Given the description of an element on the screen output the (x, y) to click on. 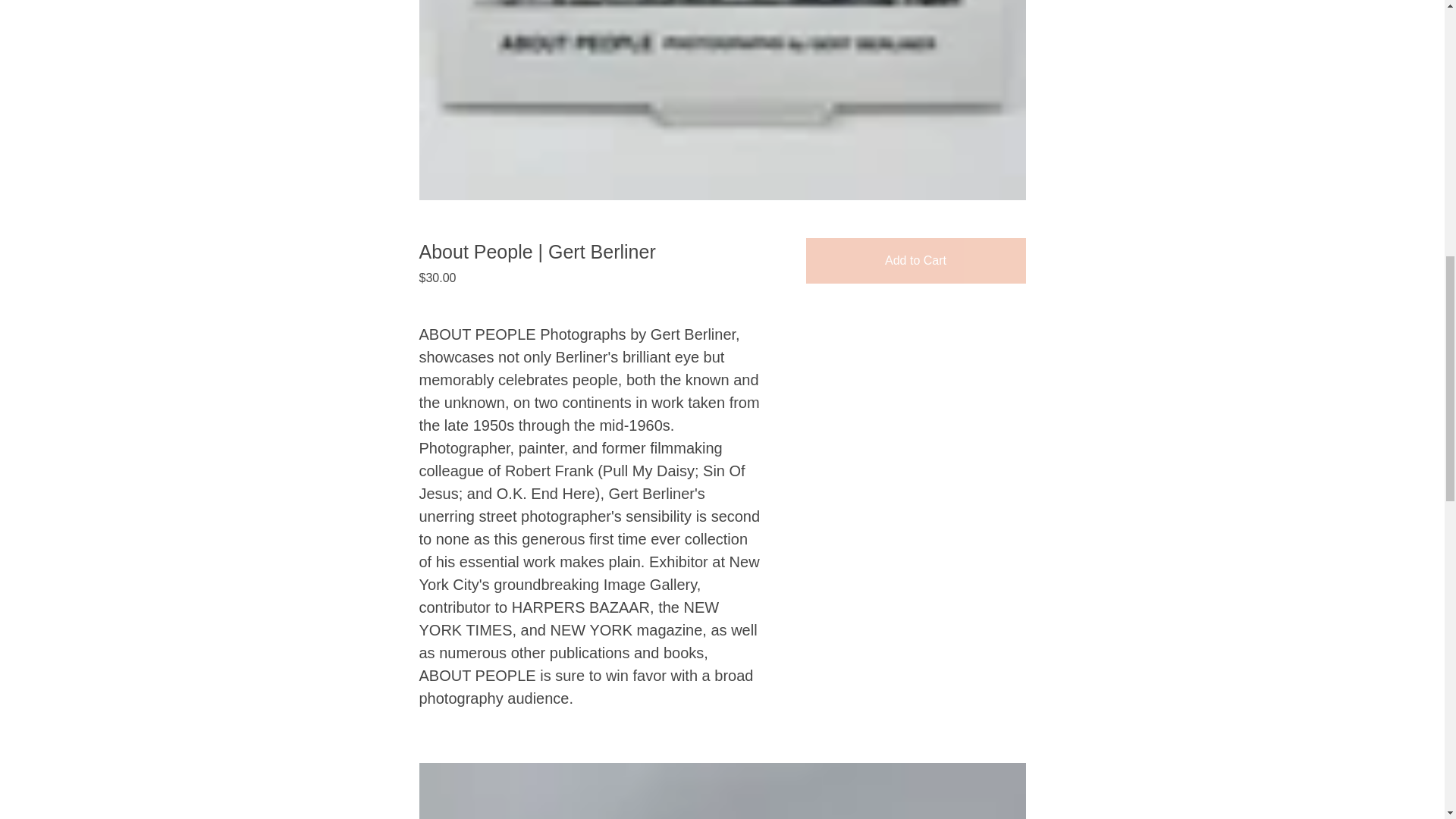
Add to Cart (915, 260)
